Given the description of an element on the screen output the (x, y) to click on. 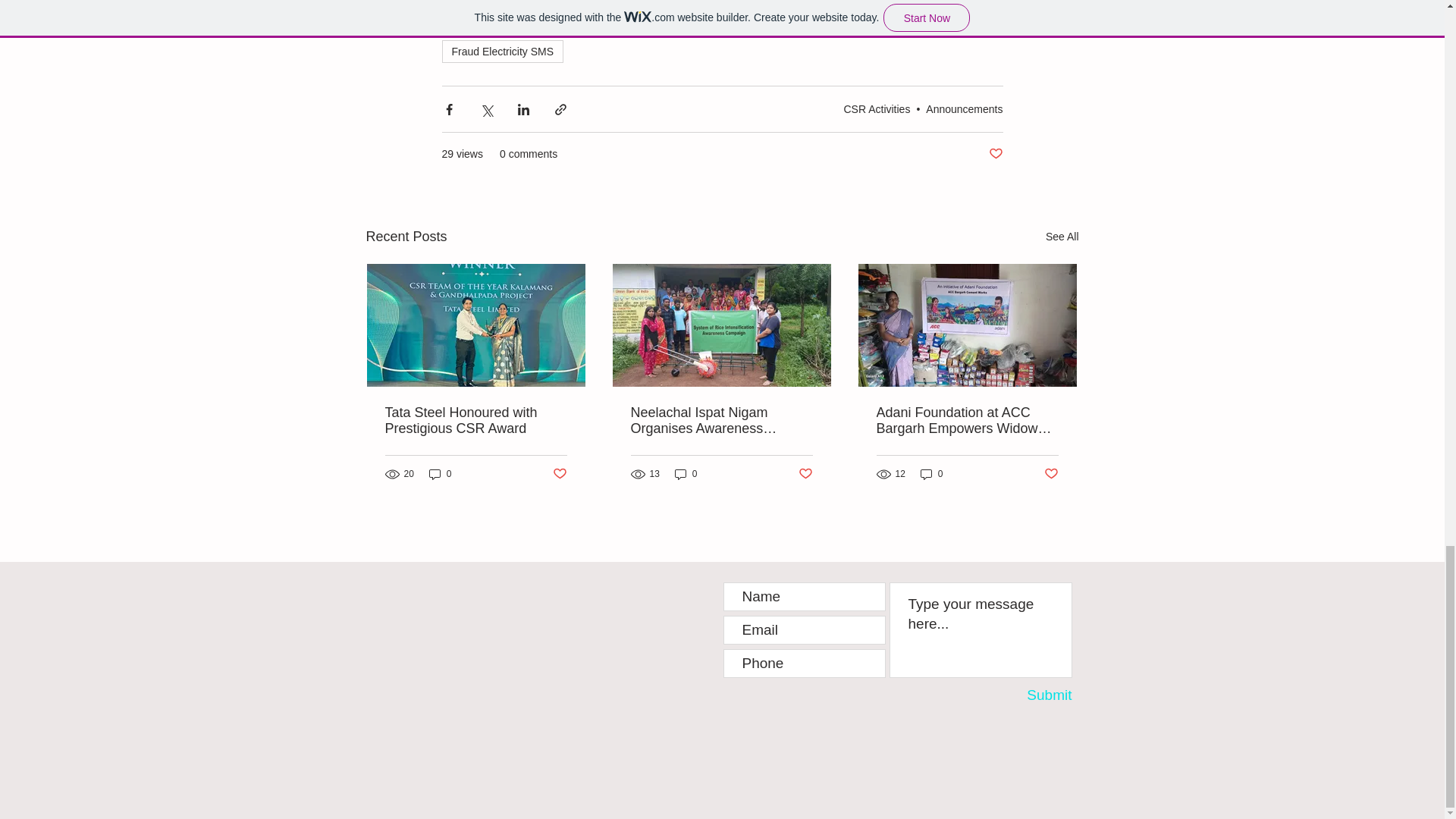
Electric bill fraud (859, 22)
Announcements (964, 109)
See All (1061, 237)
Fraud Electricity SMS (502, 51)
Post not marked as liked (995, 154)
Tata Steel Honoured with Prestigious CSR Award (476, 420)
Tata Power News (492, 2)
CSR Activities (876, 109)
TPSODL News (595, 2)
